Given the description of an element on the screen output the (x, y) to click on. 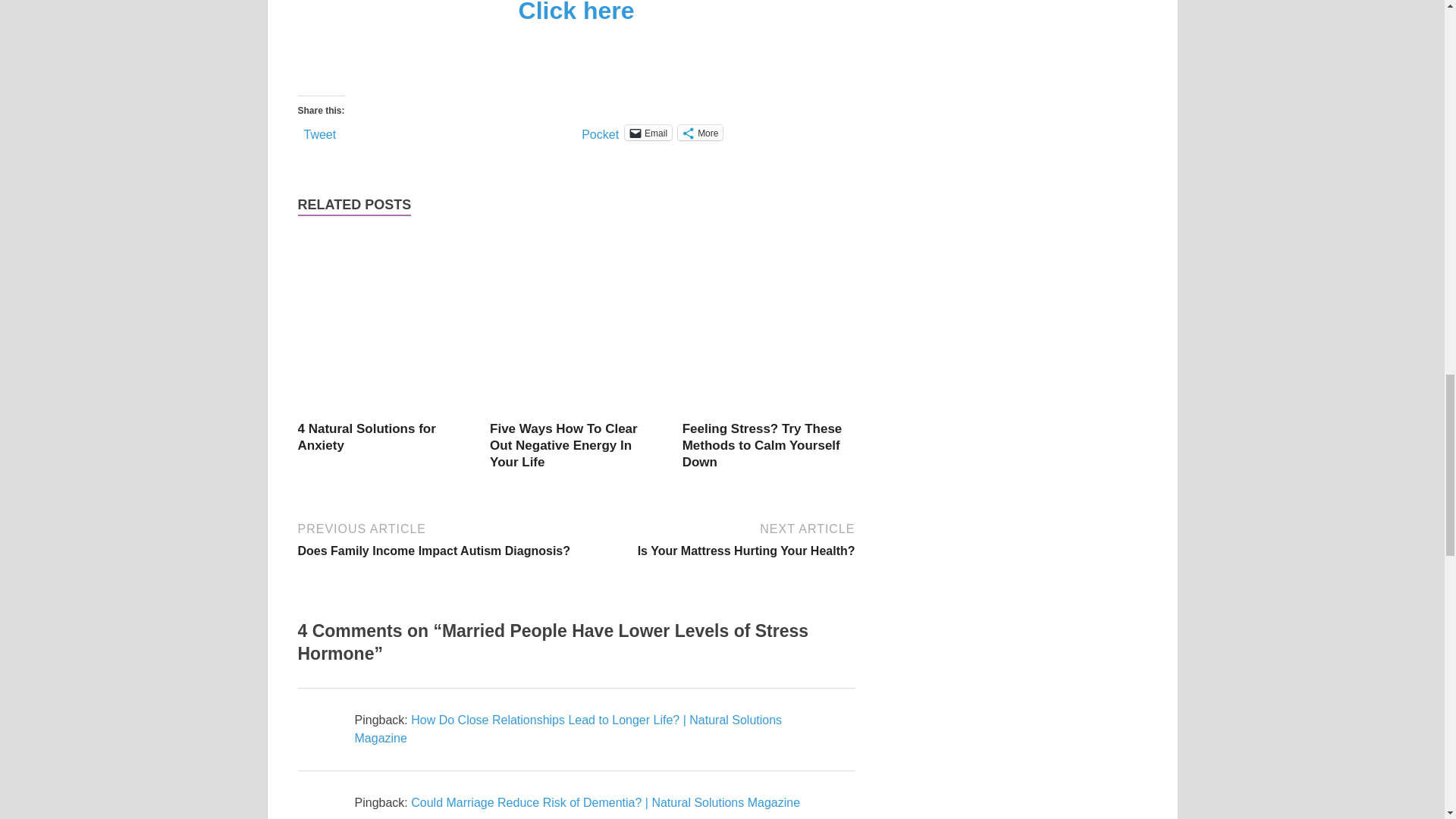
4 Natural Solutions for Anxiety (366, 436)
Click to email a link to a friend (647, 132)
Email (647, 132)
Feeling Stress? Try These Methods to Calm Yourself Down (769, 410)
Tweet (319, 131)
More (700, 132)
Click here (576, 12)
4 Natural Solutions for Anxiety (383, 410)
4 Natural Solutions for Anxiety (366, 436)
Feeling Stress? Try These Methods to Calm Yourself Down (762, 445)
Five Ways How To Clear Out Negative Energy In Your Life (563, 445)
Pocket (599, 133)
Five Ways How To Clear Out Negative Energy In Your Life (575, 410)
Five Ways How To Clear Out Negative Energy In Your Life (563, 445)
